Given the description of an element on the screen output the (x, y) to click on. 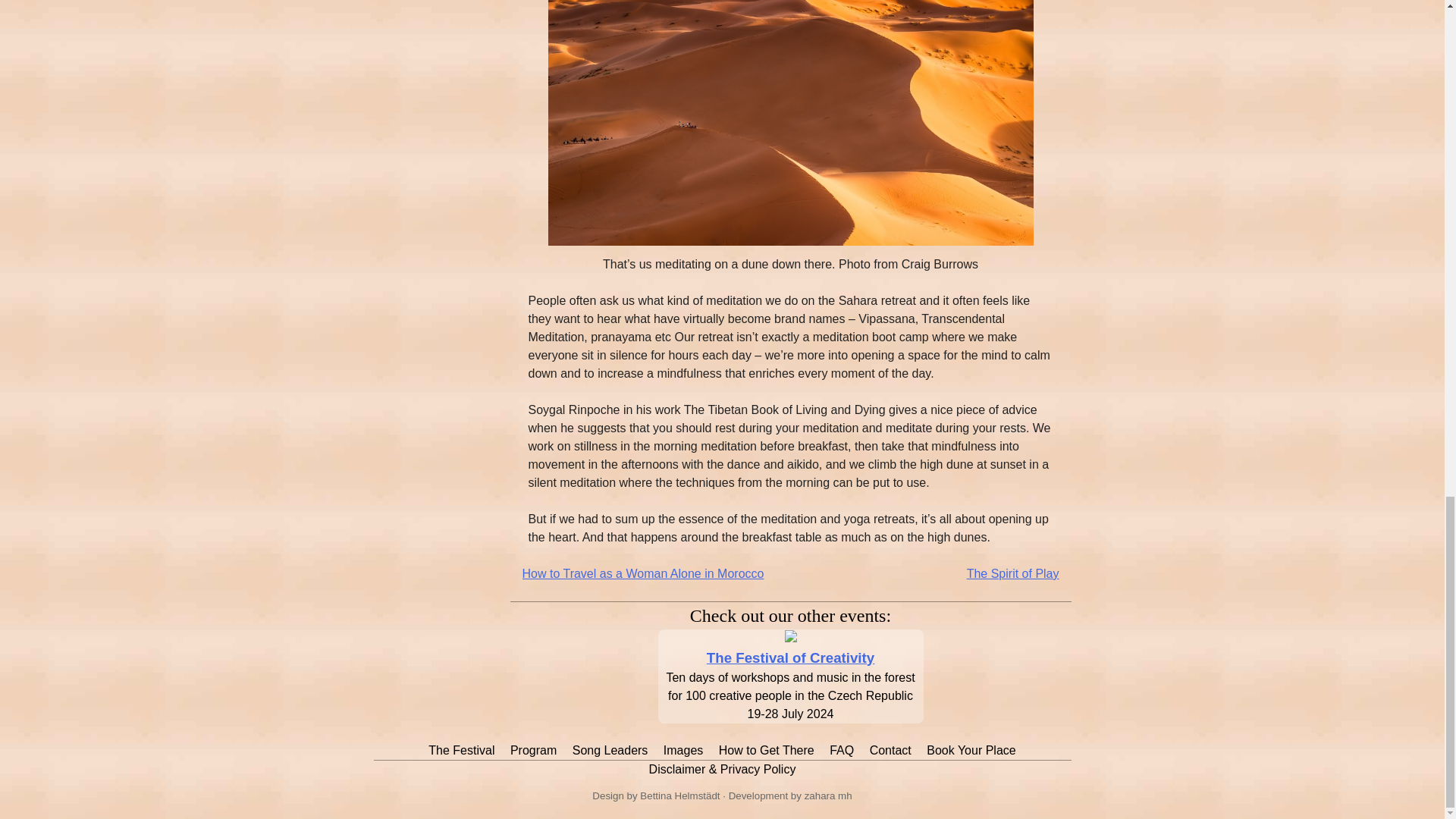
Contact (890, 749)
Road Junky Retreat in Morocco (790, 637)
Images (683, 749)
E-mail the designer (679, 795)
zahara mh (828, 795)
The Festival of Creativity (790, 657)
FAQ (841, 749)
Visit the developer's site (828, 795)
Song Leaders (609, 749)
Road Junky Festival (790, 657)
